Given the description of an element on the screen output the (x, y) to click on. 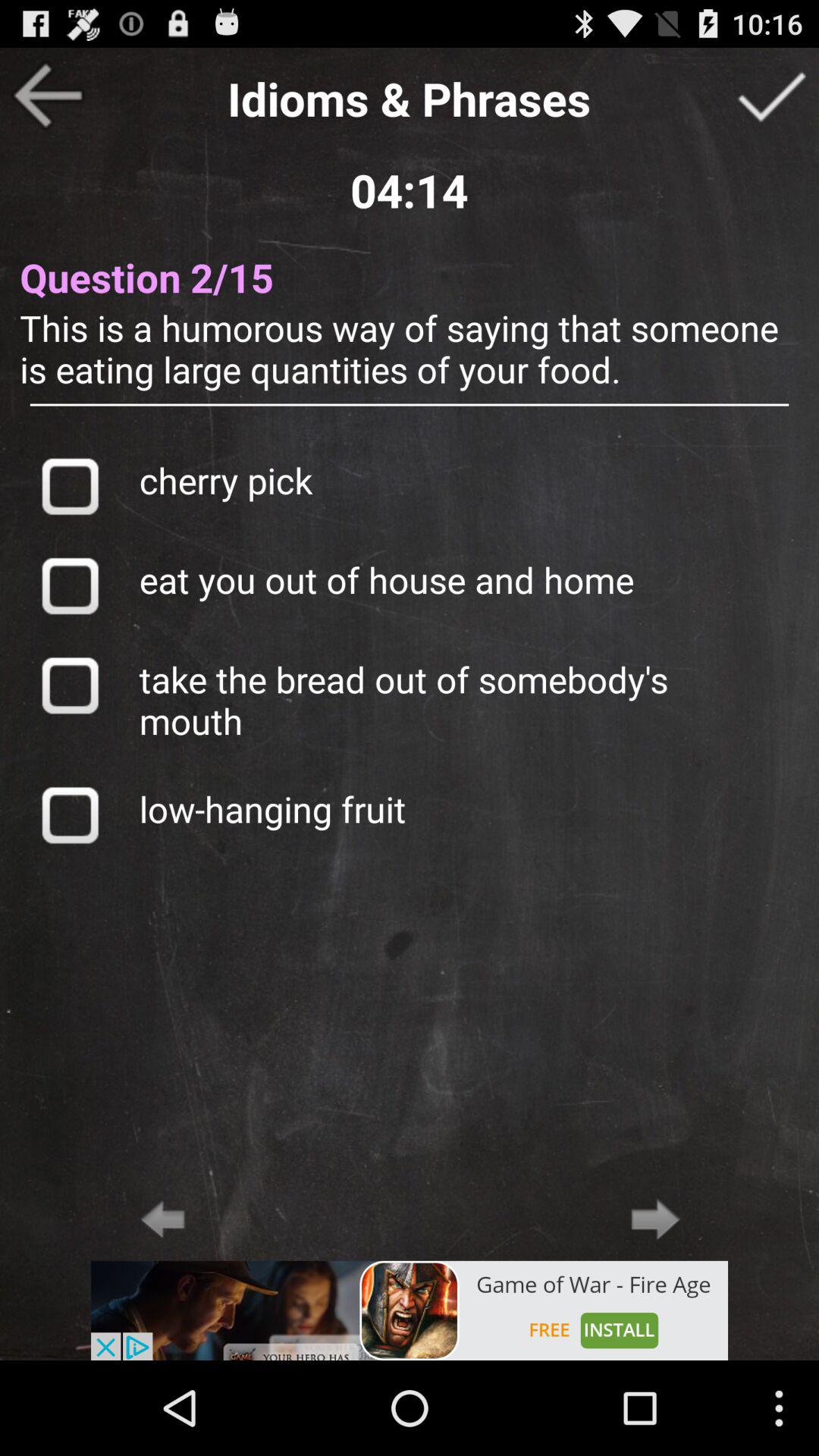
selection button (69, 585)
